Given the description of an element on the screen output the (x, y) to click on. 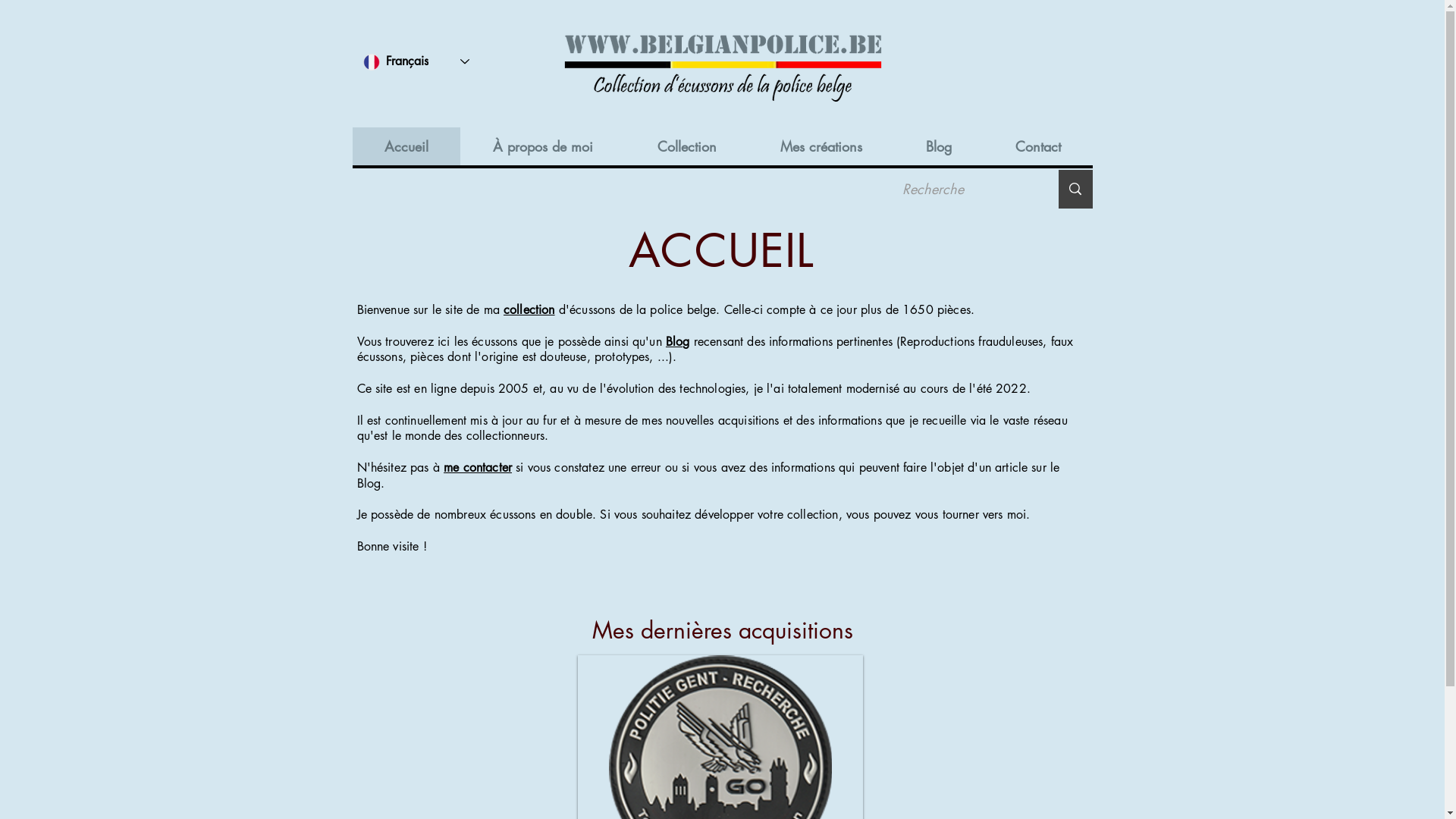
Collection Element type: text (686, 146)
collection Element type: text (529, 309)
Contact Element type: text (1037, 146)
me contacter Element type: text (477, 467)
Blog Element type: text (677, 341)
Blog Element type: text (937, 146)
Accueil Element type: text (405, 146)
